Given the description of an element on the screen output the (x, y) to click on. 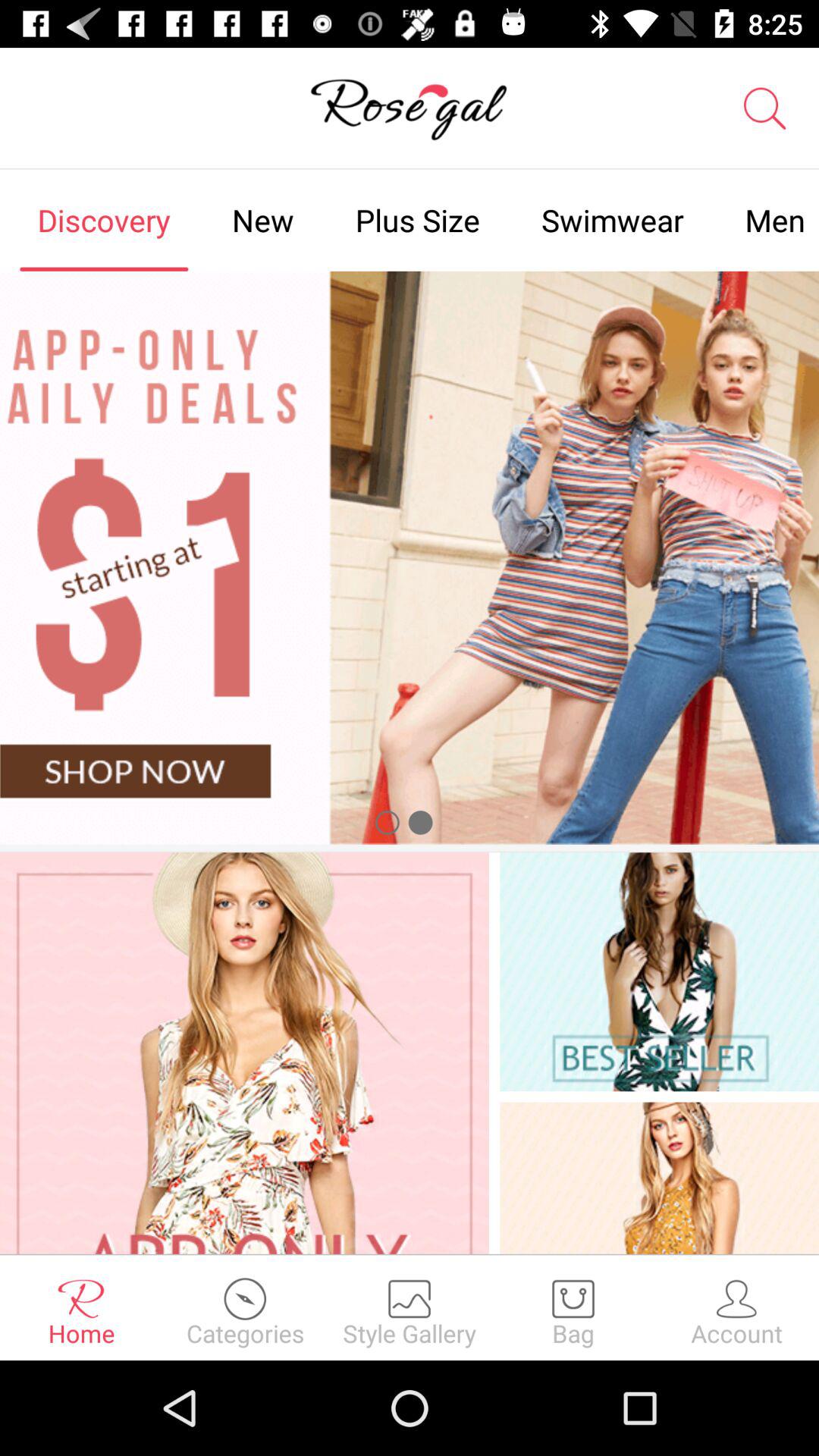
deal for advertisement (409, 557)
